Given the description of an element on the screen output the (x, y) to click on. 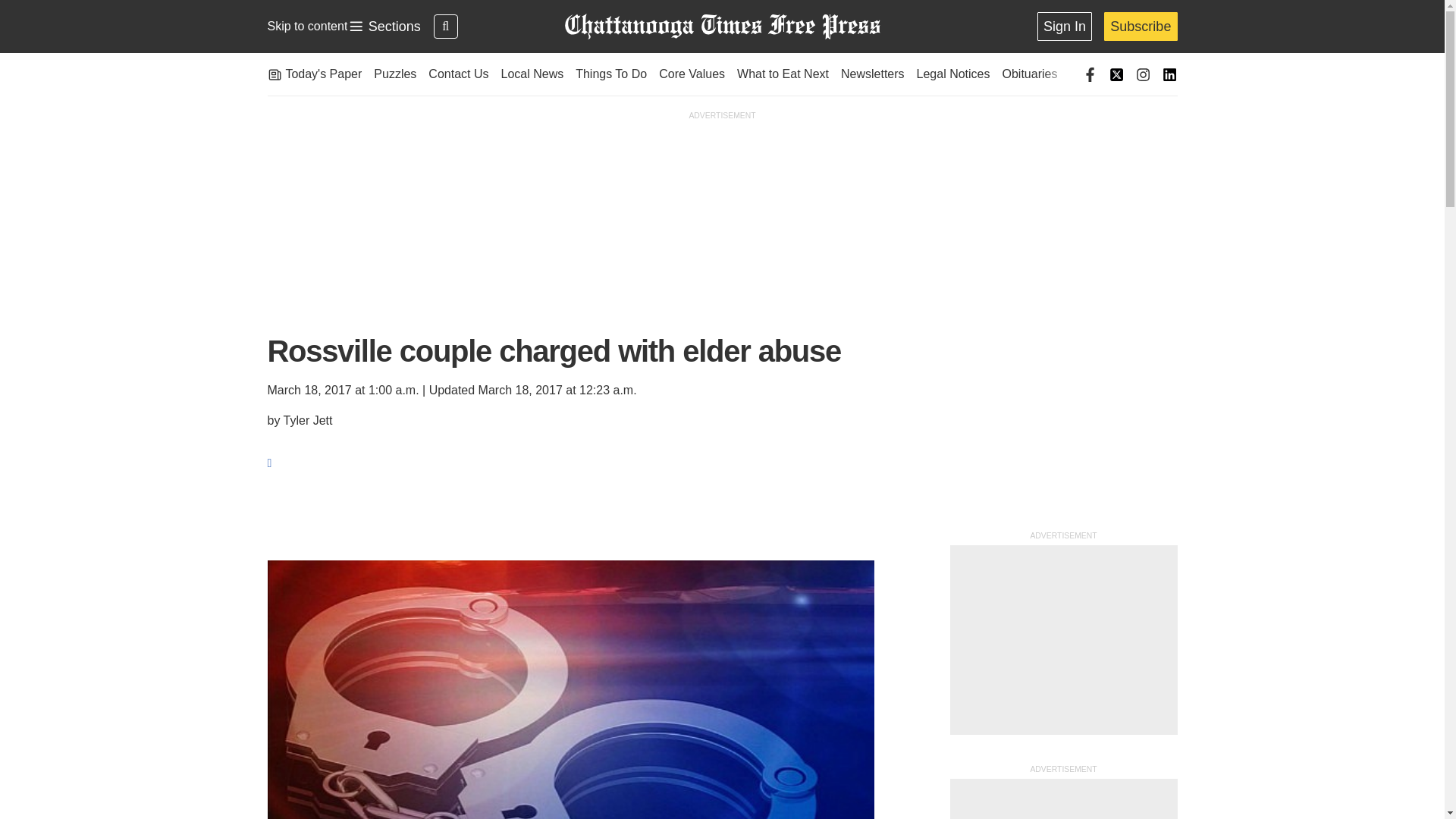
Skip to content (306, 26)
Times Free Press (721, 26)
